Given the description of an element on the screen output the (x, y) to click on. 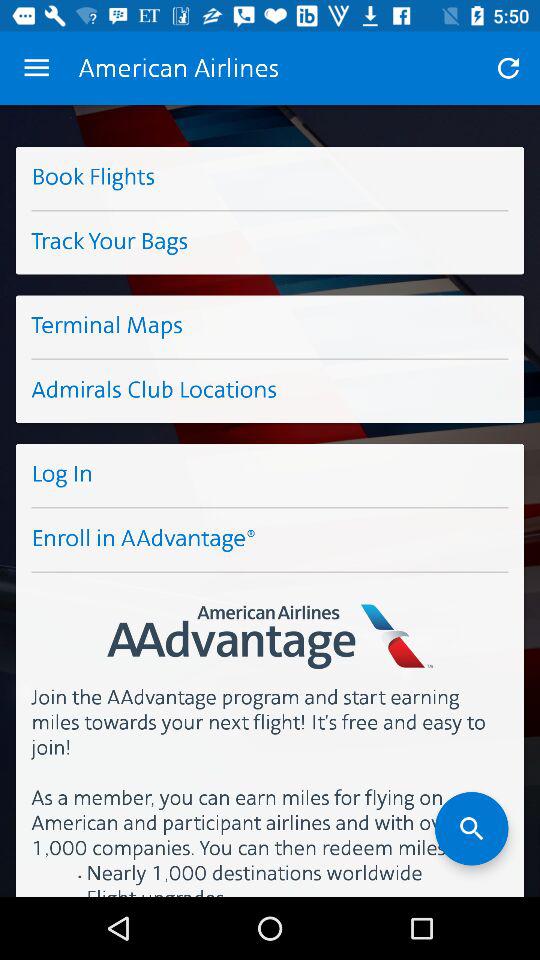
turn on book flights (269, 178)
